Given the description of an element on the screen output the (x, y) to click on. 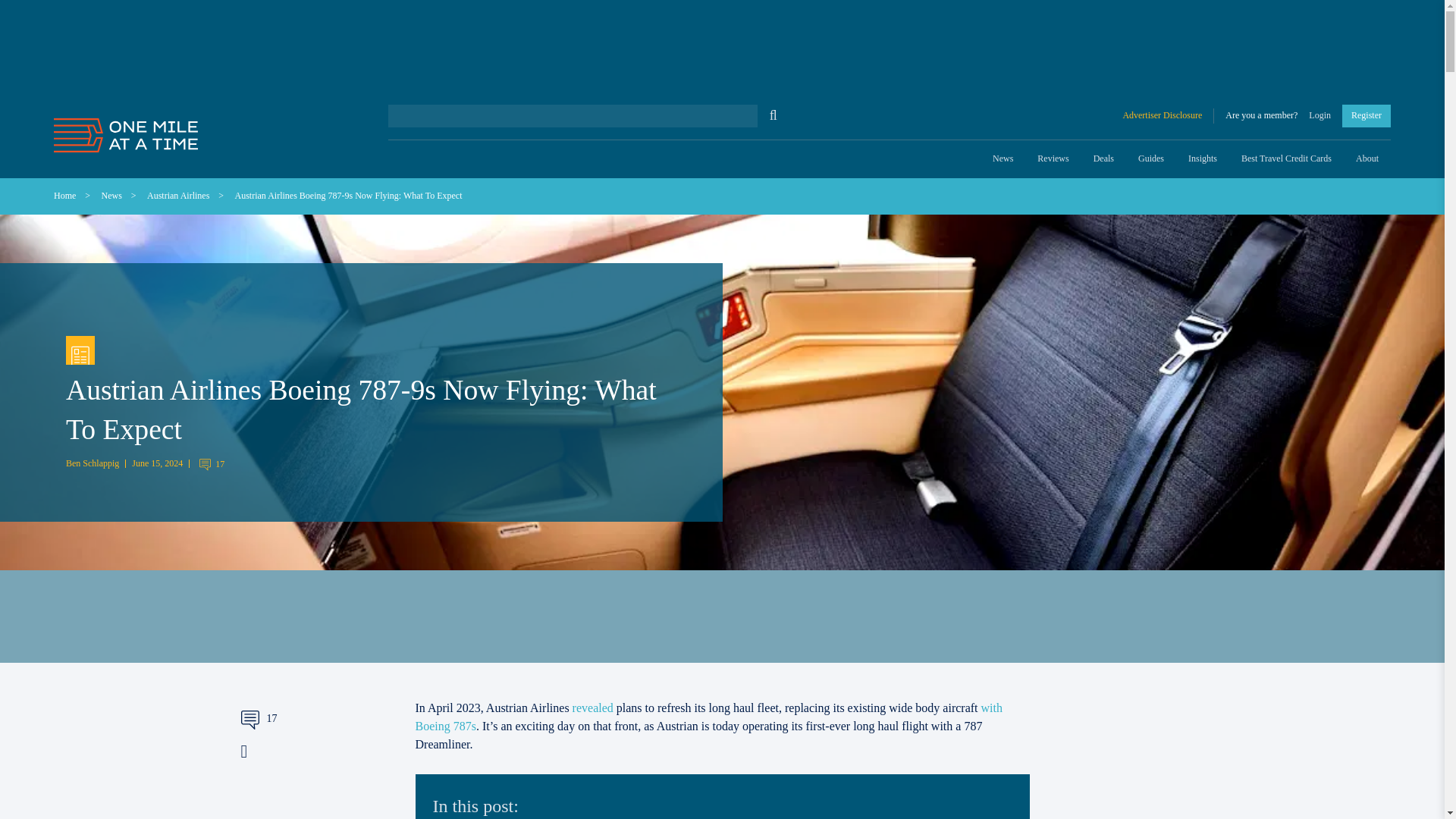
Insights (1202, 159)
Austrian Airlines Boeing 787-9s Now Flying: What To Expect (348, 195)
with Boeing 787s (708, 716)
Guides (1150, 159)
Register (1366, 115)
Reviews (1052, 159)
About (1366, 159)
Deals (1103, 159)
Insights (1202, 159)
Best Travel Credit Cards (1285, 159)
